Given the description of an element on the screen output the (x, y) to click on. 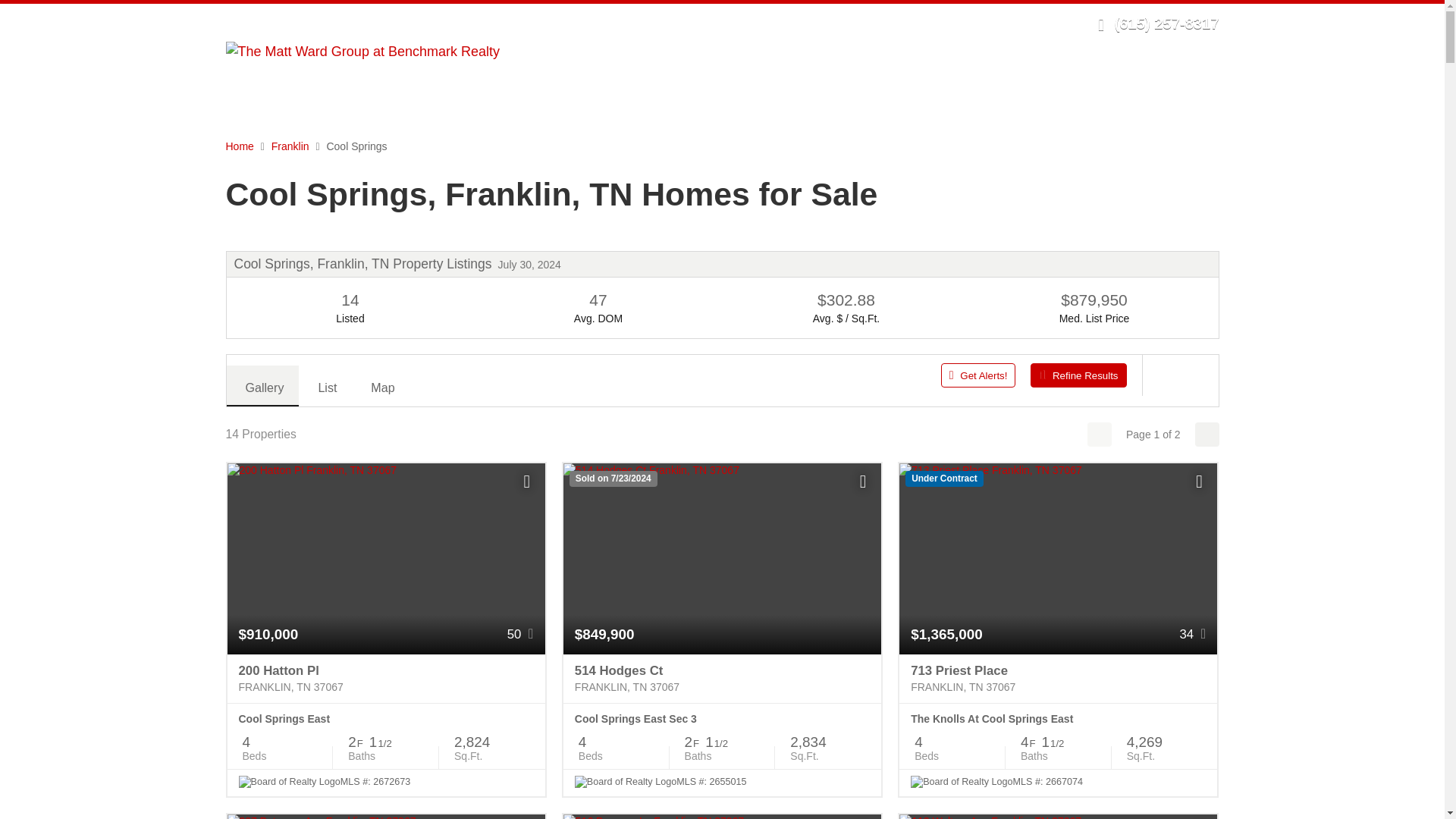
Home Page (362, 50)
Franklin (289, 146)
Select Language (1038, 23)
Gallery (261, 385)
514 Hodges Ct Franklin,  TN 37067 (721, 678)
Register (953, 23)
713 Priest Place Franklin,  TN 37067 (1058, 678)
Home (239, 146)
200 Hatton Pl Franklin,  TN 37067 (385, 678)
Login (904, 23)
